Given the description of an element on the screen output the (x, y) to click on. 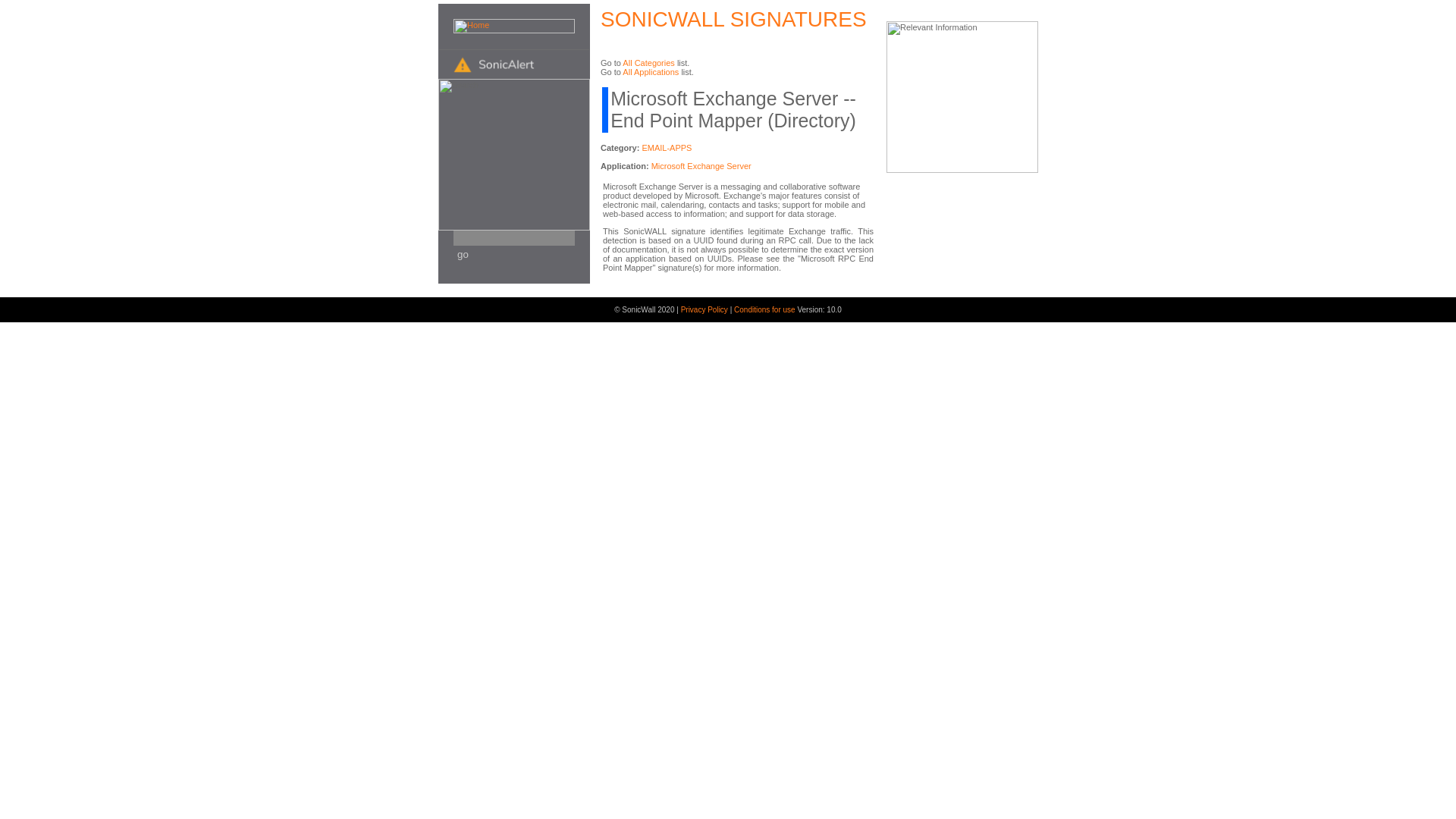
Microsoft Exchange Server (700, 165)
EMAIL-APPS (666, 147)
All Applications (650, 71)
Conditions for use (764, 309)
All Categories (648, 62)
Privacy Policy (705, 309)
go (460, 255)
